Given the description of an element on the screen output the (x, y) to click on. 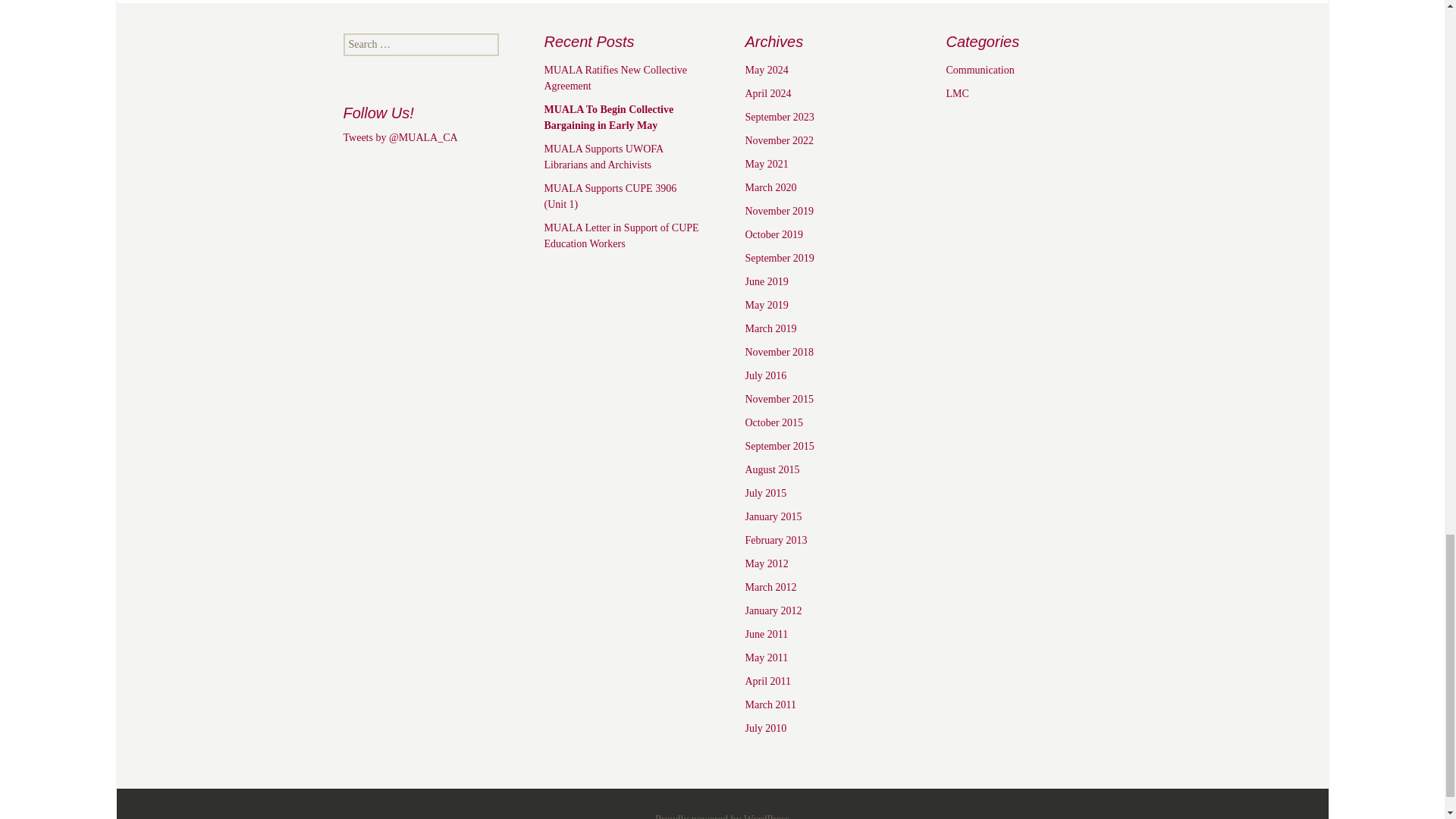
May 2019 (765, 305)
August 2015 (771, 469)
MUALA To Begin Collective Bargaining in Early May (609, 117)
May 2021 (765, 163)
October 2015 (773, 422)
November 2018 (778, 351)
June 2019 (765, 281)
November 2019 (778, 211)
July 2016 (765, 375)
MUALA Supports UWOFA Librarians and Archivists (603, 156)
MUALA Letter in Support of CUPE Education Workers (621, 235)
July 2015 (765, 492)
November 2022 (778, 140)
MUALA Ratifies New Collective Agreement (615, 77)
October 2019 (773, 234)
